Given the description of an element on the screen output the (x, y) to click on. 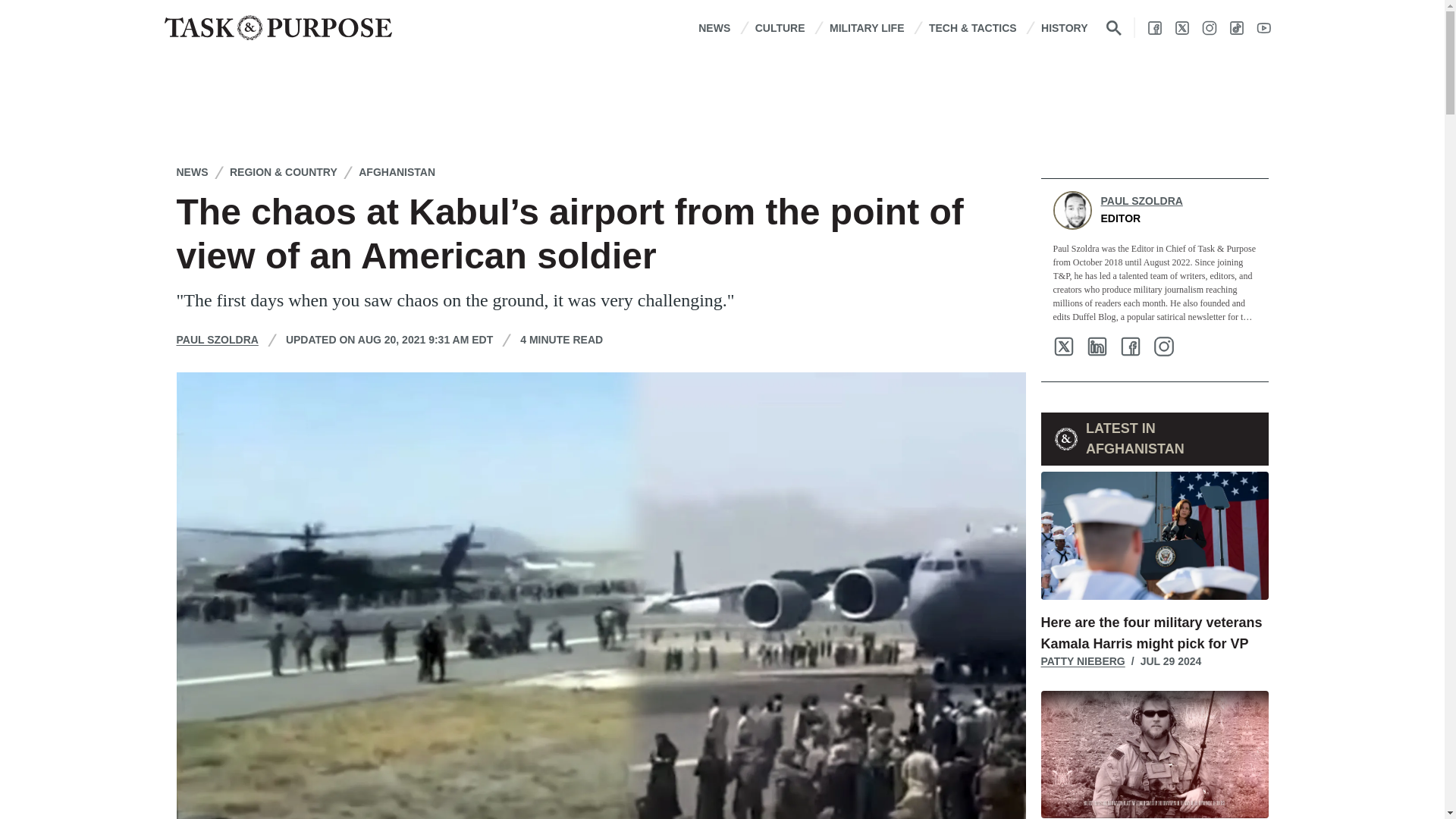
MILITARY LIFE (866, 27)
CULTURE (780, 27)
NEWS (714, 27)
